Given the description of an element on the screen output the (x, y) to click on. 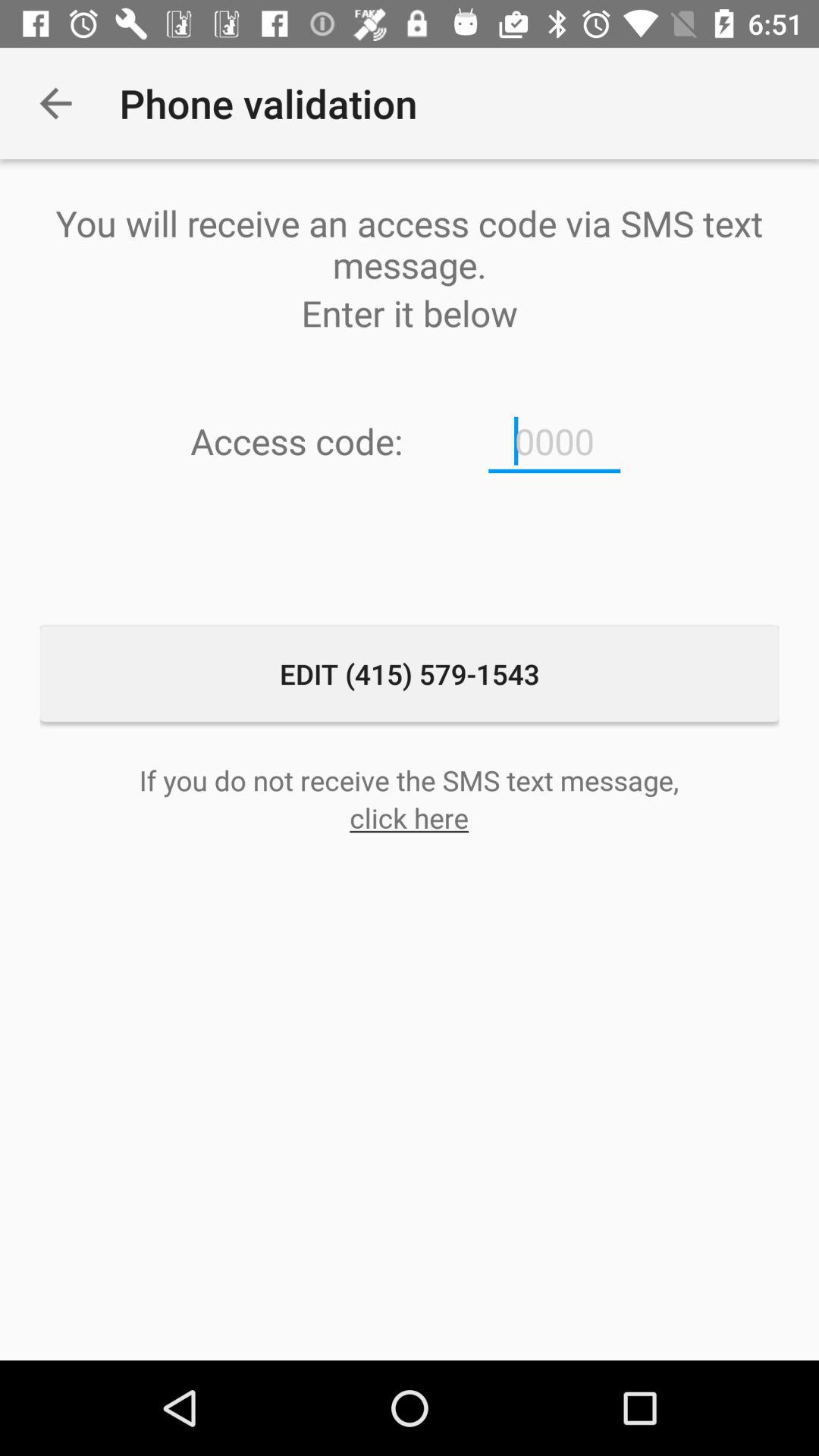
turn off icon above you will receive icon (55, 103)
